Given the description of an element on the screen output the (x, y) to click on. 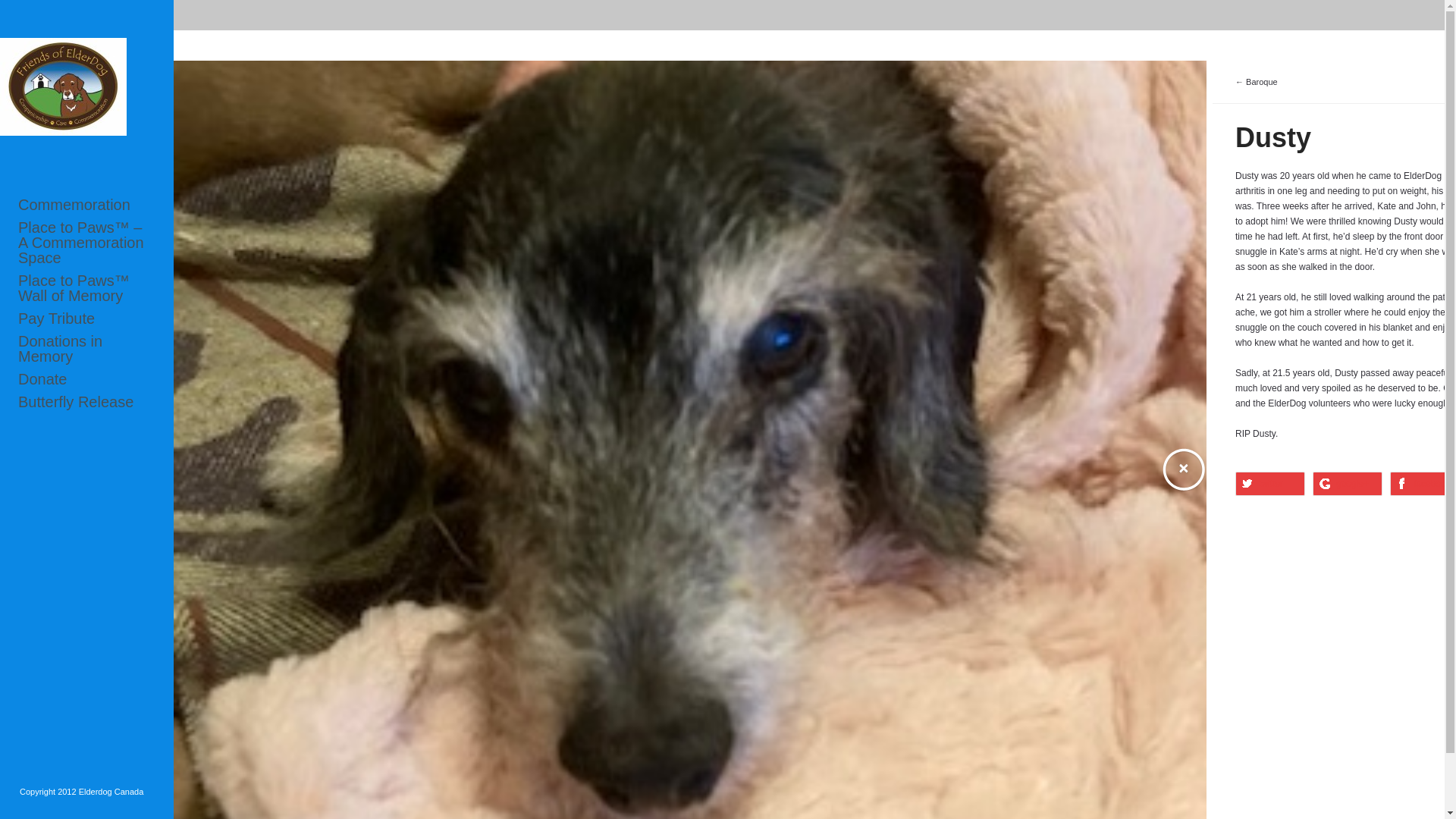
Commemoration (86, 204)
Donate (86, 378)
facebook (1423, 483)
twitter (1269, 483)
Donations in Memory (86, 348)
Pay Tribute (86, 318)
Butterfly Release (86, 401)
Close panel (1183, 469)
